Given the description of an element on the screen output the (x, y) to click on. 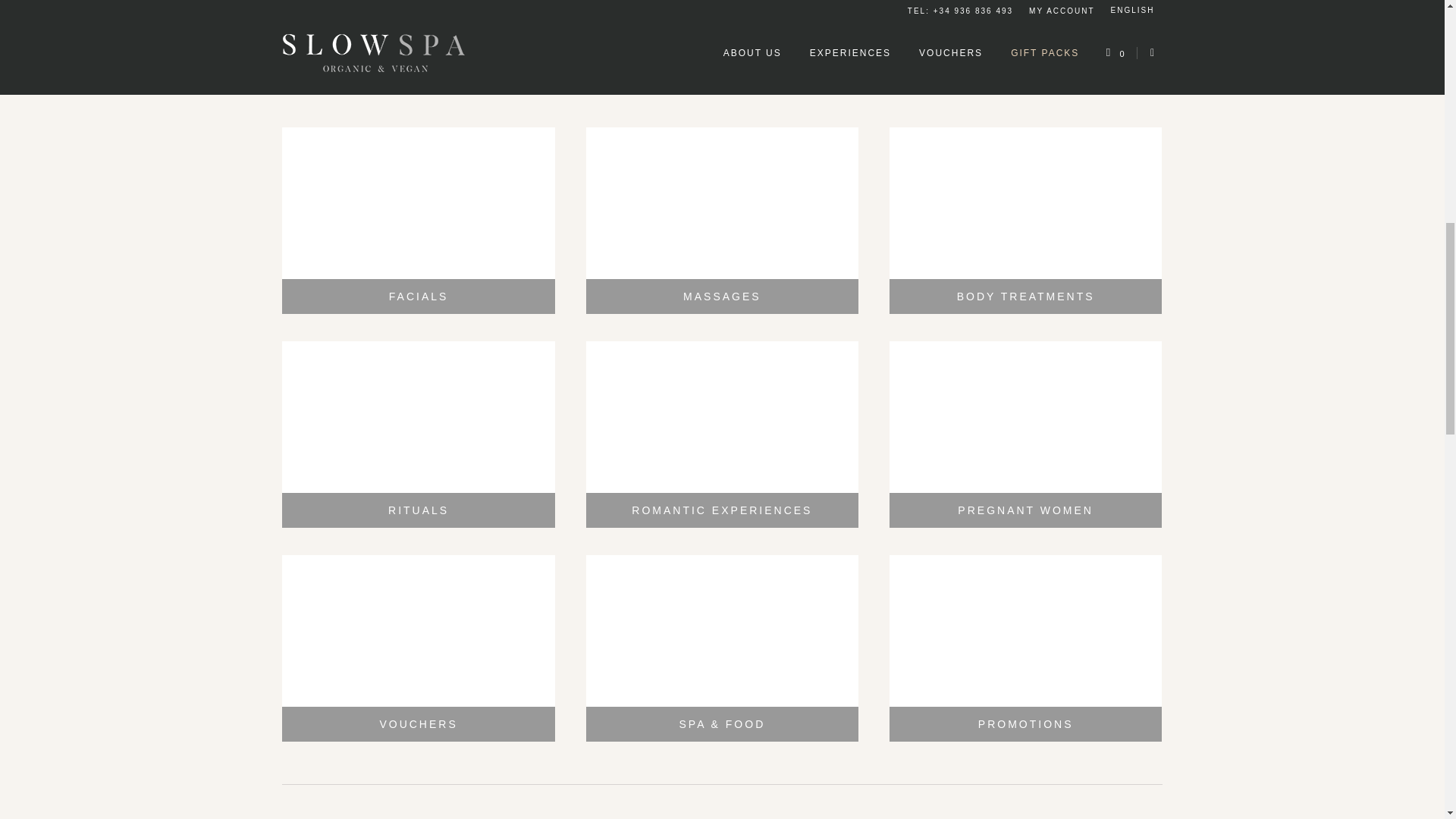
MASSAGES (721, 296)
FACIALS (418, 296)
More information (722, 47)
